Given the description of an element on the screen output the (x, y) to click on. 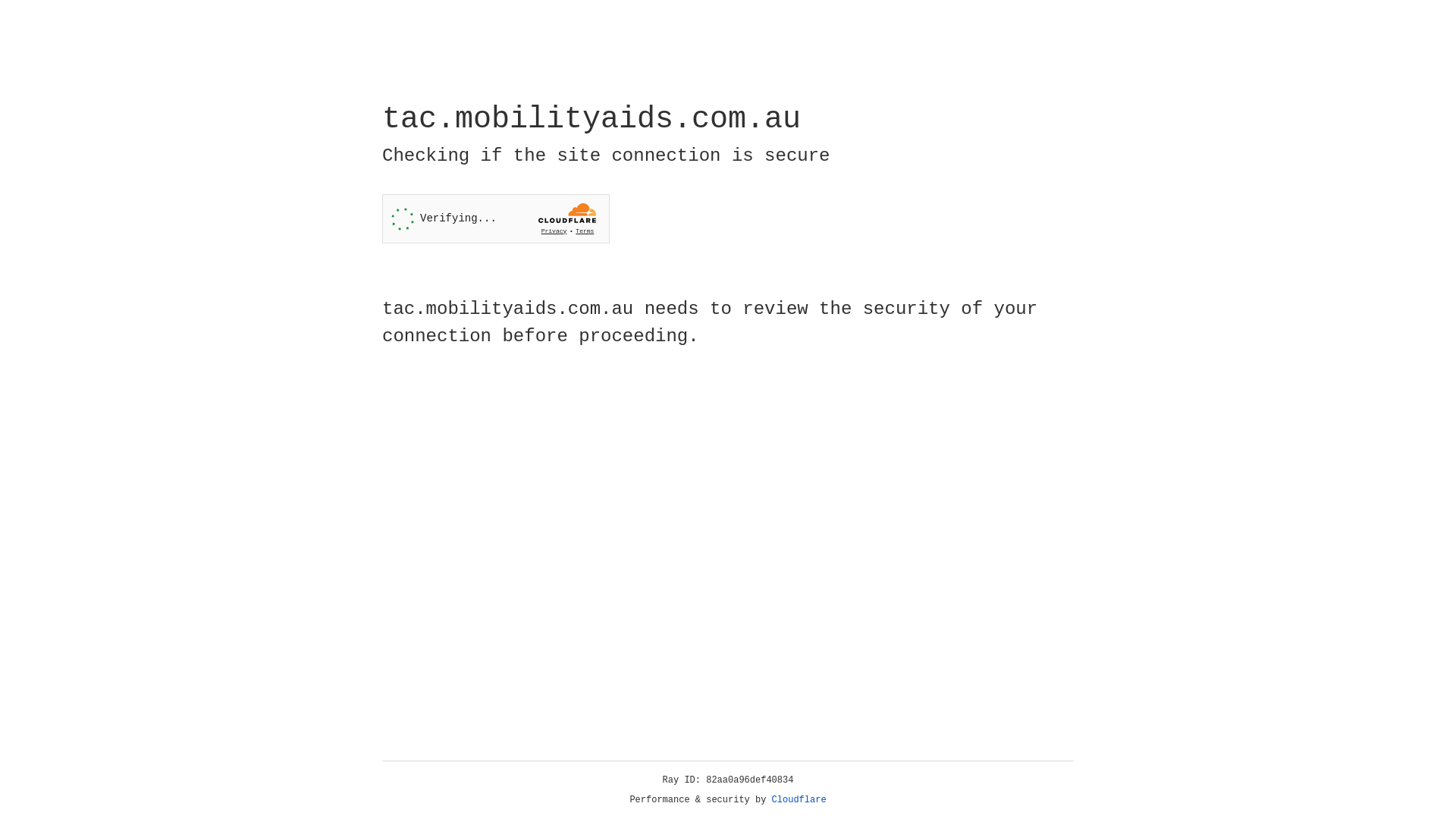
Cloudflare Element type: text (798, 799)
Widget containing a Cloudflare security challenge Element type: hover (495, 218)
